Given the description of an element on the screen output the (x, y) to click on. 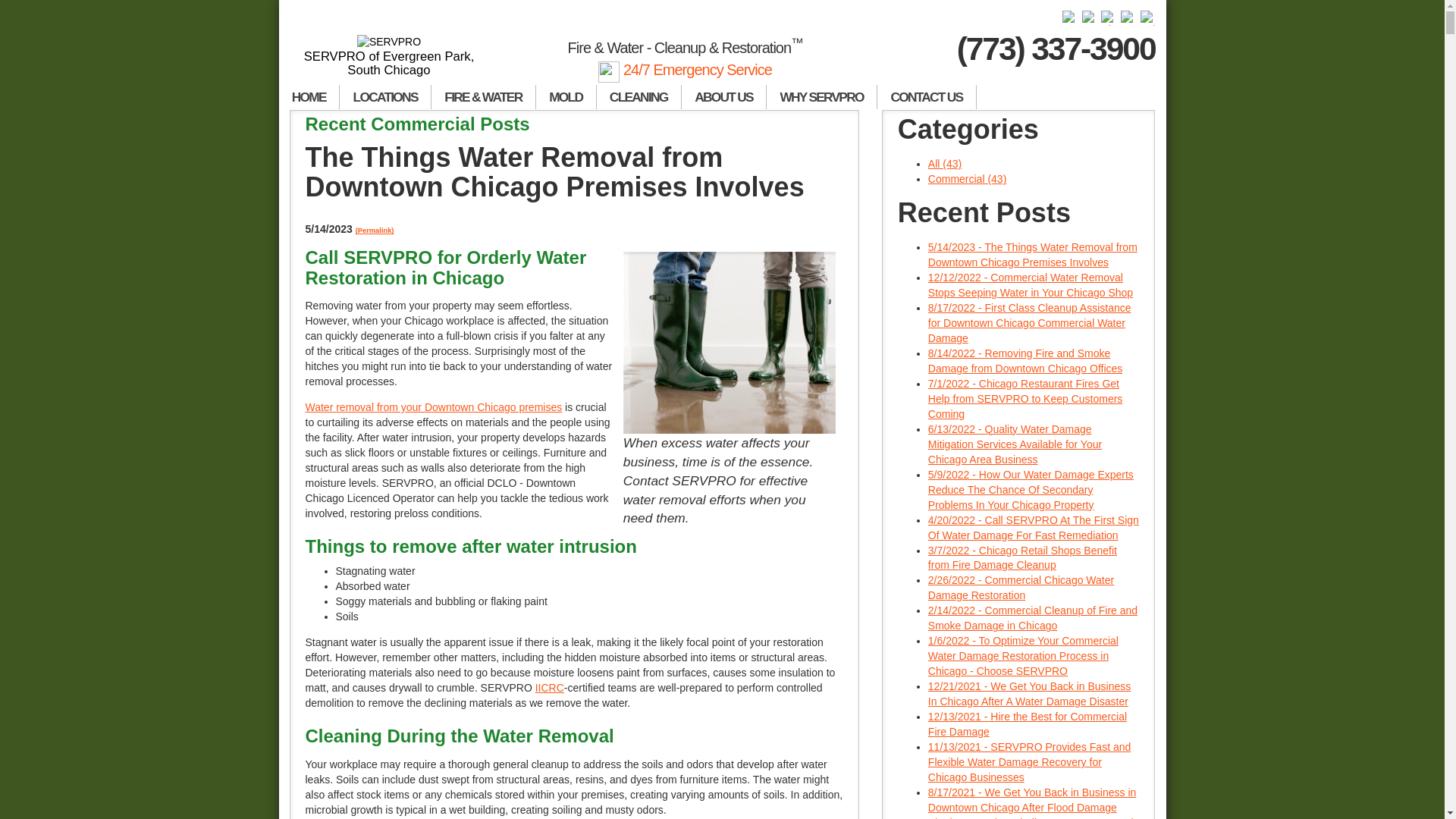
CLEANING (638, 97)
HOME (309, 97)
MOLD (565, 97)
SERVPRO of Evergreen Park, South Chicago (389, 55)
LOCATIONS (384, 97)
